Given the description of an element on the screen output the (x, y) to click on. 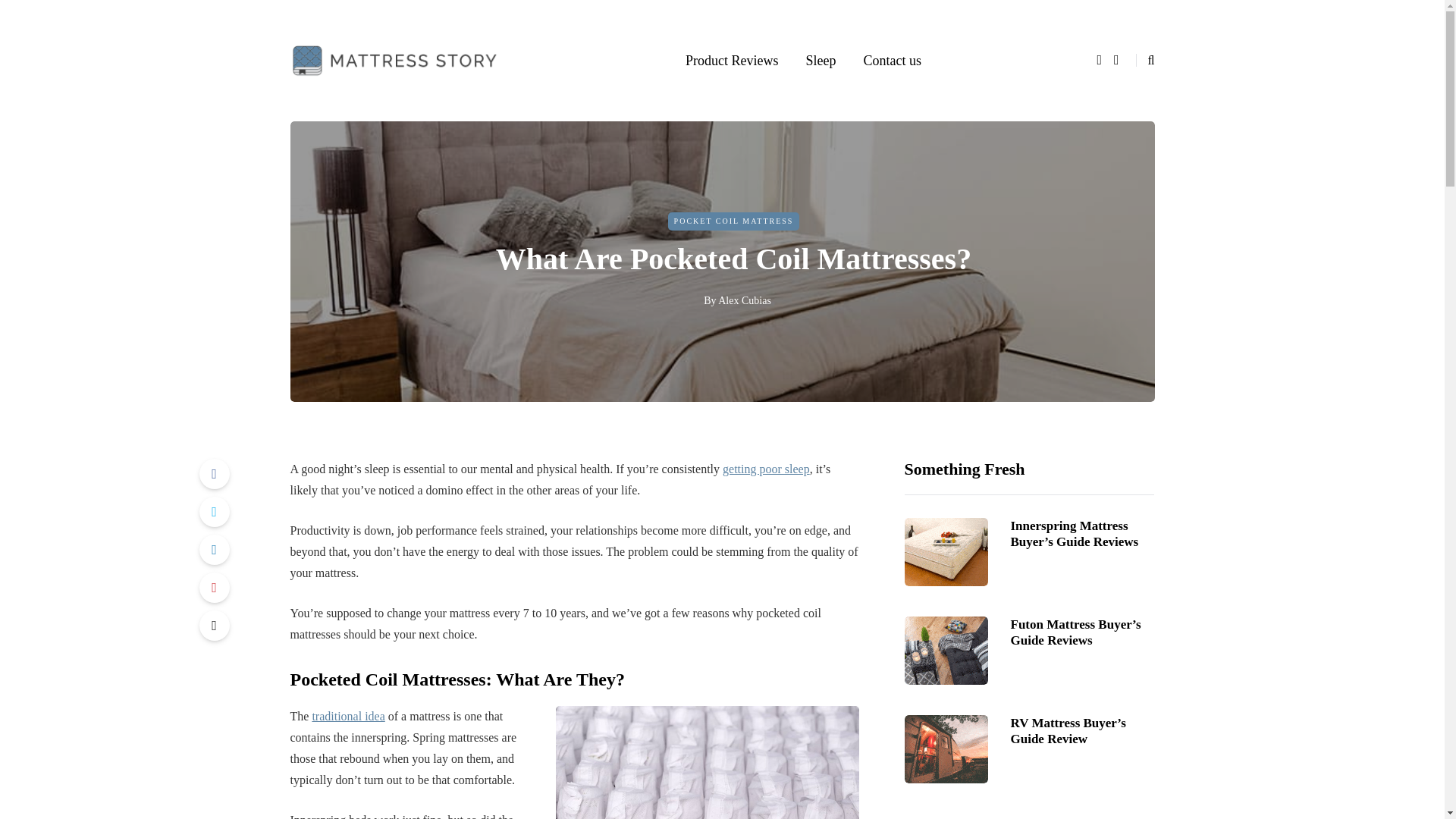
Sleep (820, 60)
Search (43, 15)
Product Reviews (731, 60)
Contact us (891, 60)
Share with Facebook (213, 472)
Share with LinkedIn (213, 548)
POCKET COIL MATTRESS (733, 221)
Tweet this (213, 511)
getting poor sleep (765, 468)
traditional idea (347, 716)
Share by Email (213, 624)
Posts by Alex Cubias (744, 299)
Alex Cubias (744, 299)
Pin this (213, 586)
